Given the description of an element on the screen output the (x, y) to click on. 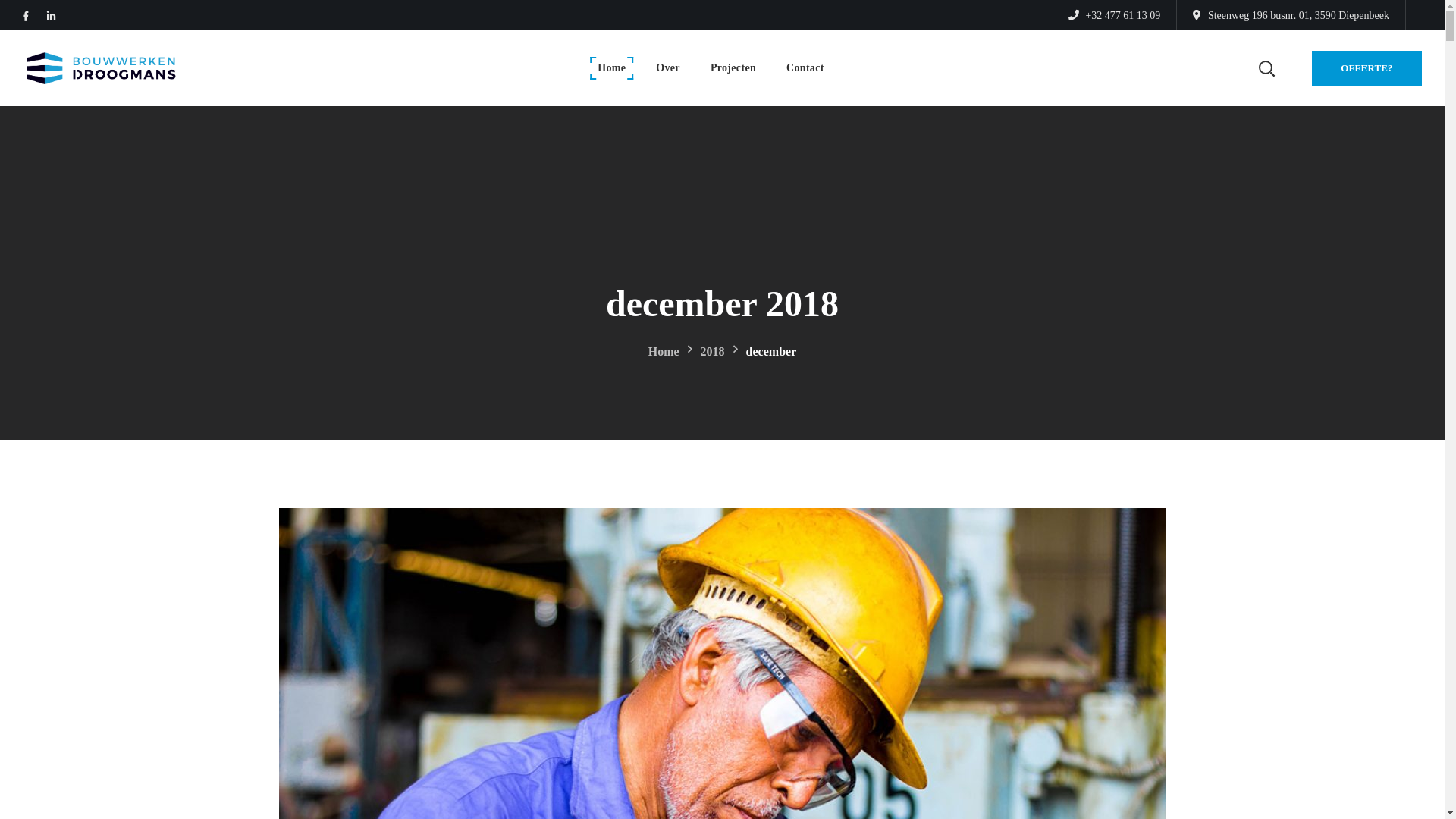
Home Element type: text (663, 350)
Projecten Element type: text (733, 68)
Search Element type: text (1226, 141)
Home Element type: text (611, 68)
+32 477 61 13 09 Element type: text (1114, 15)
Over Element type: text (667, 68)
OFFERTE? Element type: text (1366, 67)
Contact Element type: text (805, 68)
Steenweg 196 busnr. 01, 3590 Diepenbeek Element type: text (1290, 15)
2018 Element type: text (712, 350)
